Given the description of an element on the screen output the (x, y) to click on. 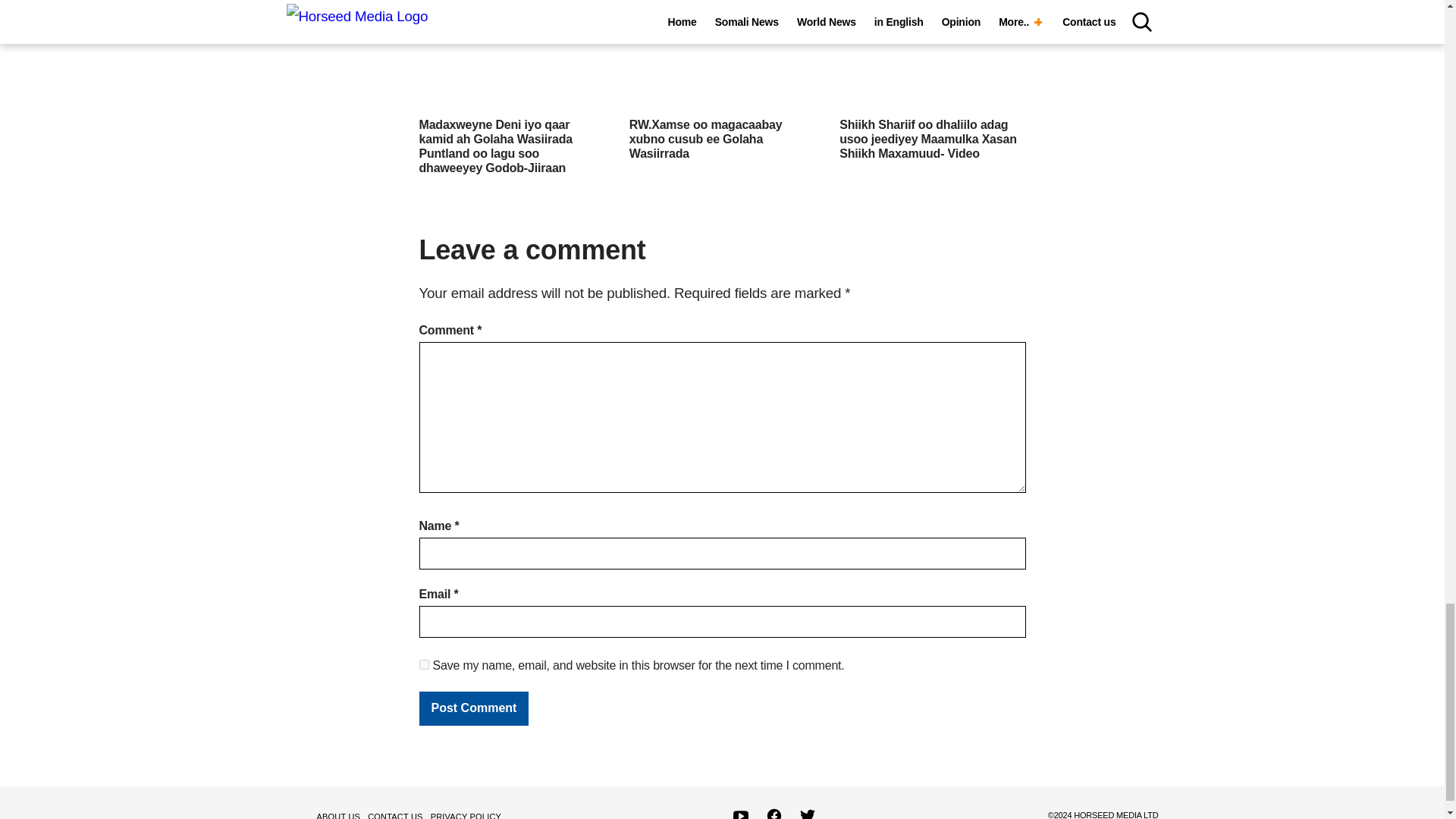
yes (423, 664)
RW.Xamse oo magacaabay xubno cusub ee Golaha Wasiirrada (705, 138)
Post Comment (473, 707)
